Given the description of an element on the screen output the (x, y) to click on. 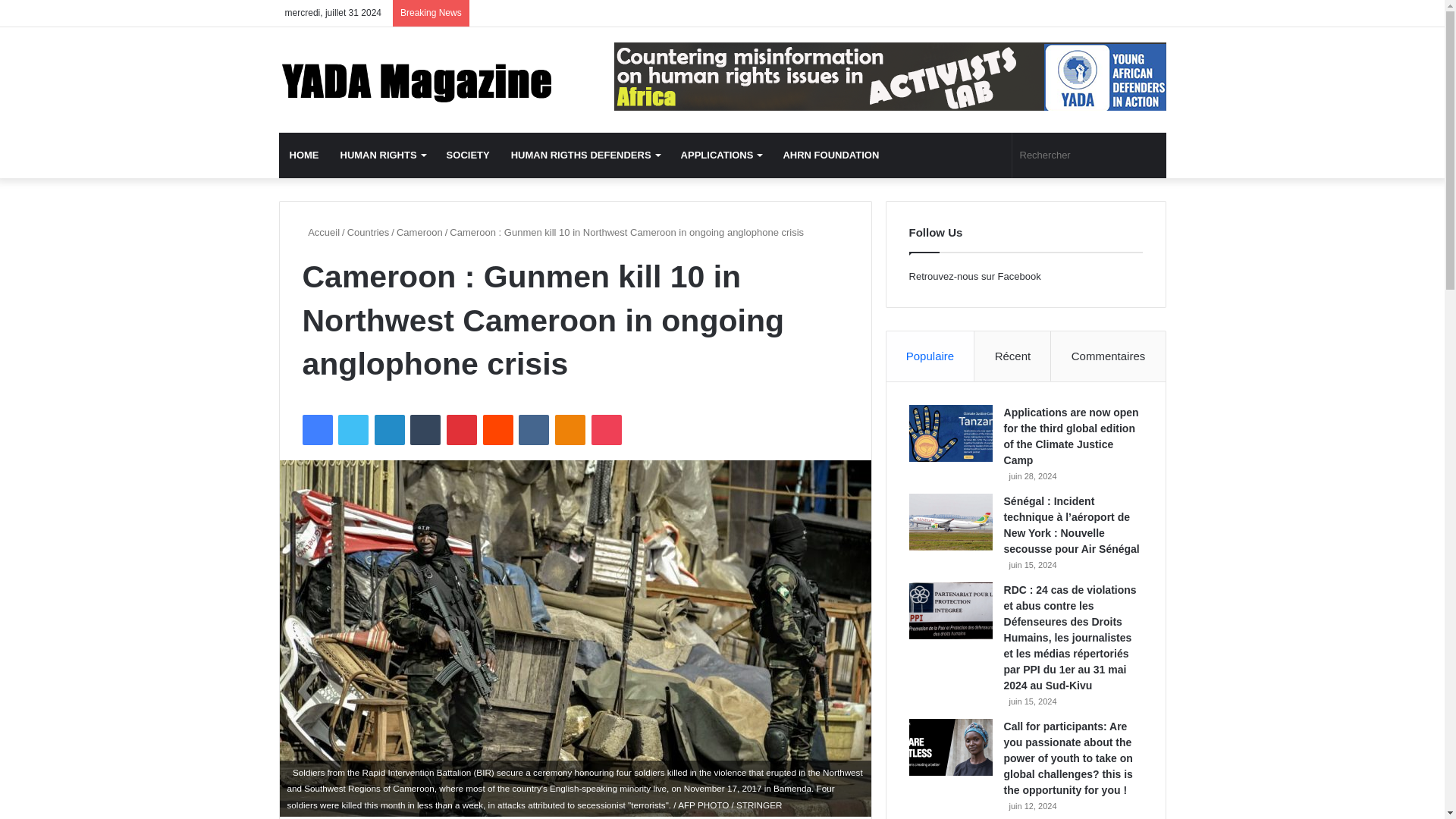
Odnoklassniki (569, 429)
HUMAN RIGHTS (382, 155)
Reddit (498, 429)
Pinterest (461, 429)
HOME (304, 155)
Twitter (352, 429)
Facebook (316, 429)
Rechercher (1088, 155)
Linkedin (389, 429)
YADA Magazine (419, 79)
Tumblr (425, 429)
VKontakte (533, 429)
